Given the description of an element on the screen output the (x, y) to click on. 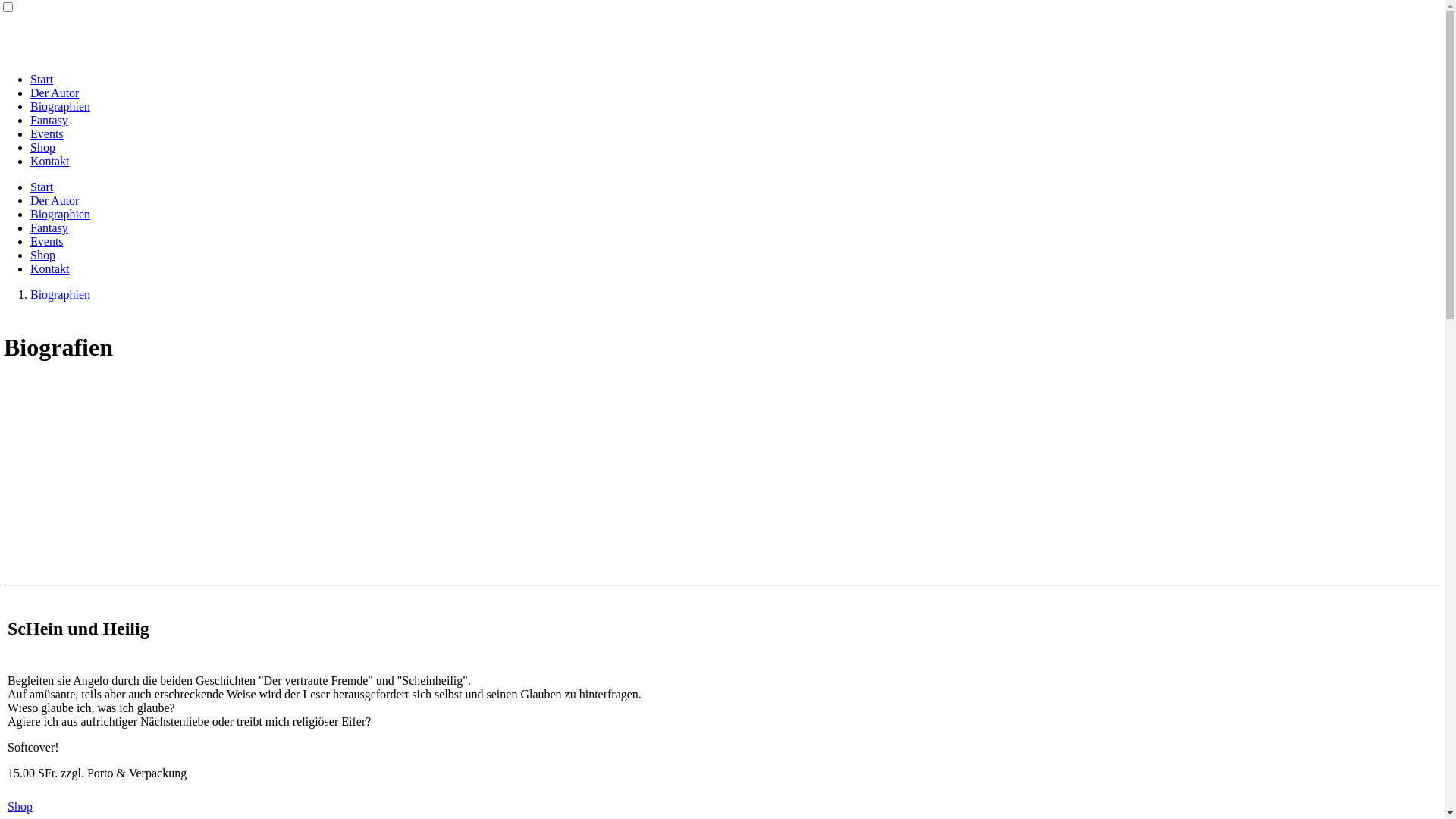
Kontakt Element type: text (49, 268)
Shop Element type: text (42, 147)
Shop Element type: text (42, 254)
Fantasy Element type: text (49, 227)
Kontakt Element type: text (49, 160)
Events Element type: text (46, 241)
Biographien Element type: text (60, 213)
Shop Element type: text (19, 806)
Start Element type: text (41, 78)
Der Autor Element type: text (54, 200)
Biographien Element type: text (60, 106)
Start Element type: text (41, 186)
Der Autor Element type: text (54, 92)
Events Element type: text (46, 133)
Fantasy Element type: text (49, 119)
Biographien Element type: text (60, 294)
